Given the description of an element on the screen output the (x, y) to click on. 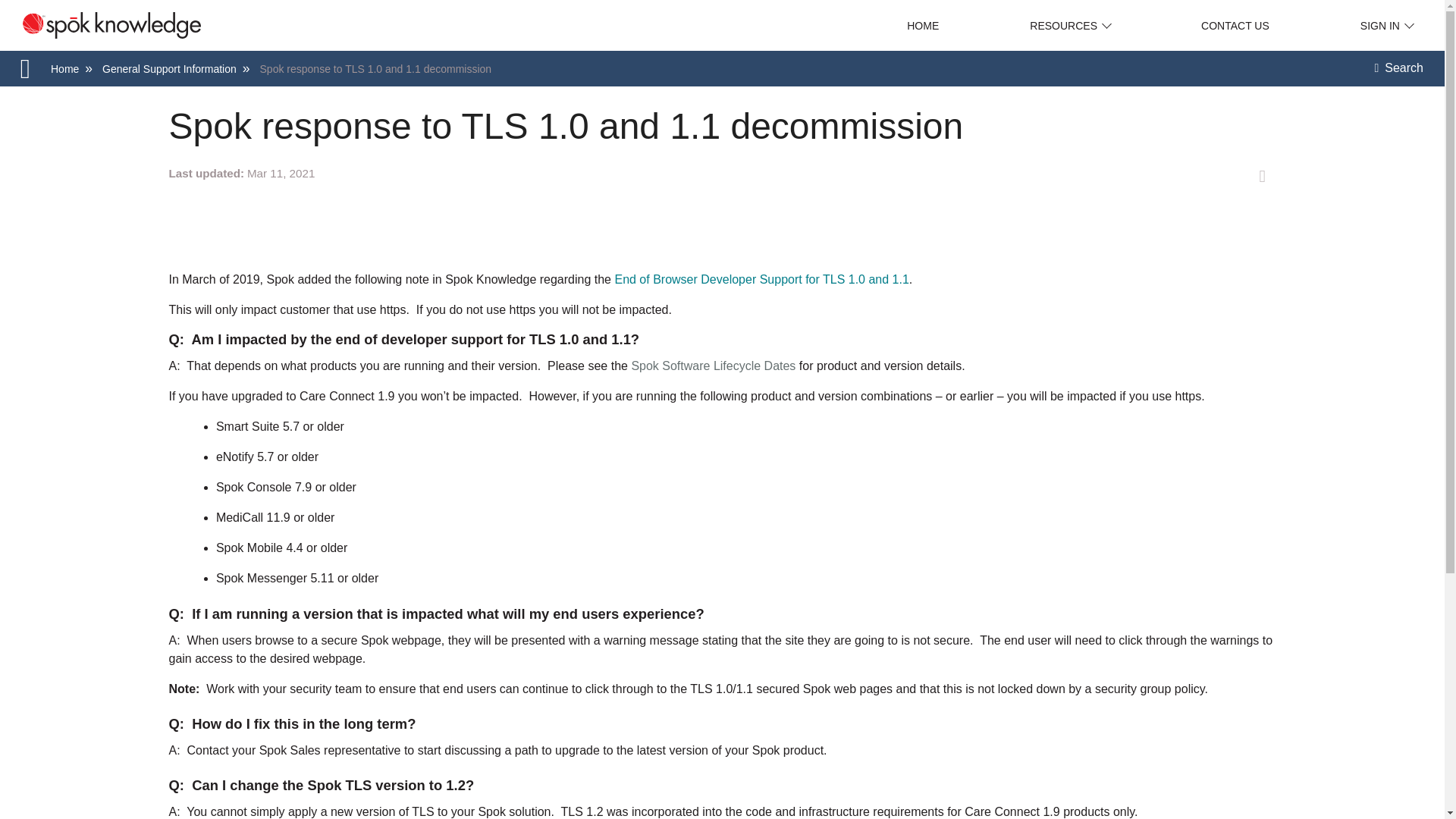
End of Browser Developer Support for TLS 1.0 and 1.1 (761, 278)
Spok Knowledge Home (923, 25)
CONTACT US (1235, 25)
Home (63, 69)
HOME (923, 25)
Spok (100, 25)
Spok Software Lifecycle Dates (712, 365)
Contact (1235, 25)
General Support Information (169, 69)
